Given the description of an element on the screen output the (x, y) to click on. 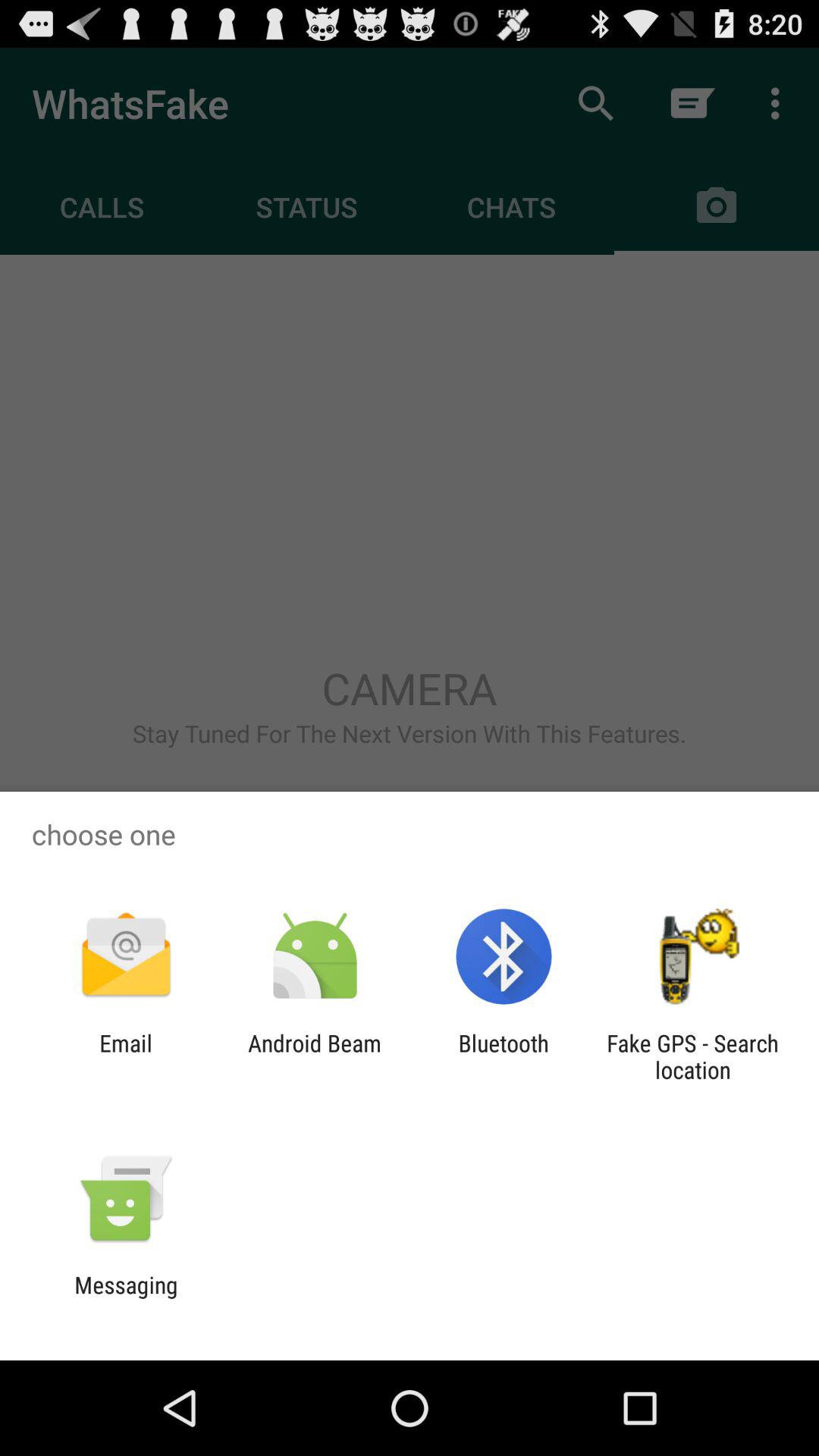
select the icon next to email item (314, 1056)
